Given the description of an element on the screen output the (x, y) to click on. 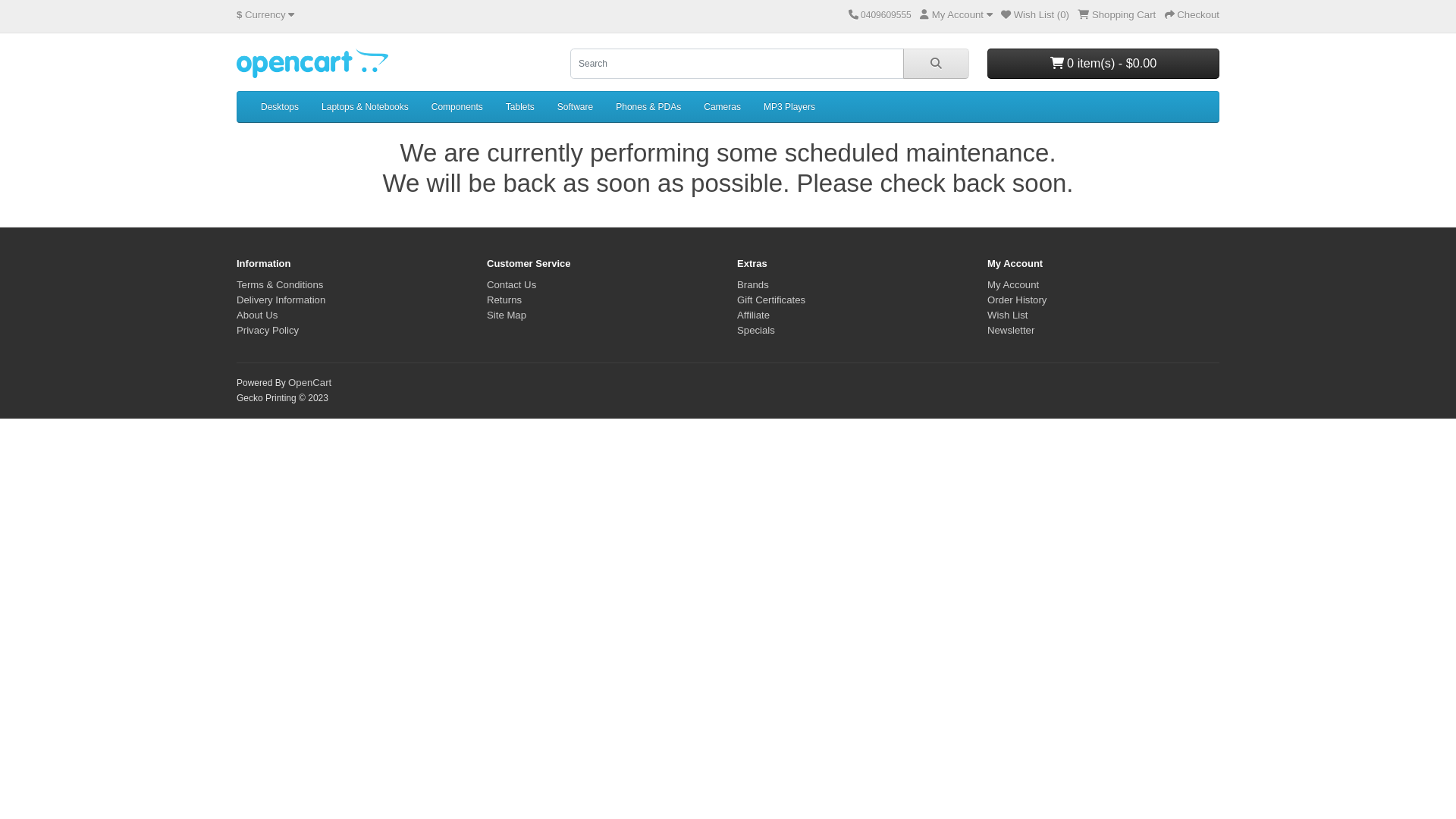
Wish List (0) Element type: text (1035, 14)
Privacy Policy Element type: text (267, 329)
My Account Element type: text (1012, 284)
Order History Element type: text (1016, 299)
Software Element type: text (575, 106)
Delivery Information Element type: text (280, 299)
MP3 Players Element type: text (789, 106)
Components Element type: text (457, 106)
Site Map Element type: text (506, 314)
Newsletter Element type: text (1010, 329)
Contact Us Element type: text (511, 284)
Phones & PDAs Element type: text (648, 106)
$ Currency Element type: text (265, 14)
Gecko Printing Element type: hover (312, 63)
Gift Certificates Element type: text (771, 299)
0 item(s) - $0.00 Element type: text (1103, 63)
My Account Element type: text (955, 14)
Wish List Element type: text (1007, 314)
Tablets Element type: text (520, 106)
OpenCart Element type: text (309, 382)
About Us Element type: text (256, 314)
Returns Element type: text (503, 299)
Cameras Element type: text (722, 106)
Brands Element type: text (752, 284)
Desktops Element type: text (279, 106)
Affiliate Element type: text (753, 314)
Checkout Element type: text (1191, 14)
Shopping Cart Element type: text (1116, 14)
Terms & Conditions Element type: text (279, 284)
Laptops & Notebooks Element type: text (365, 106)
Specials Element type: text (756, 329)
